Given the description of an element on the screen output the (x, y) to click on. 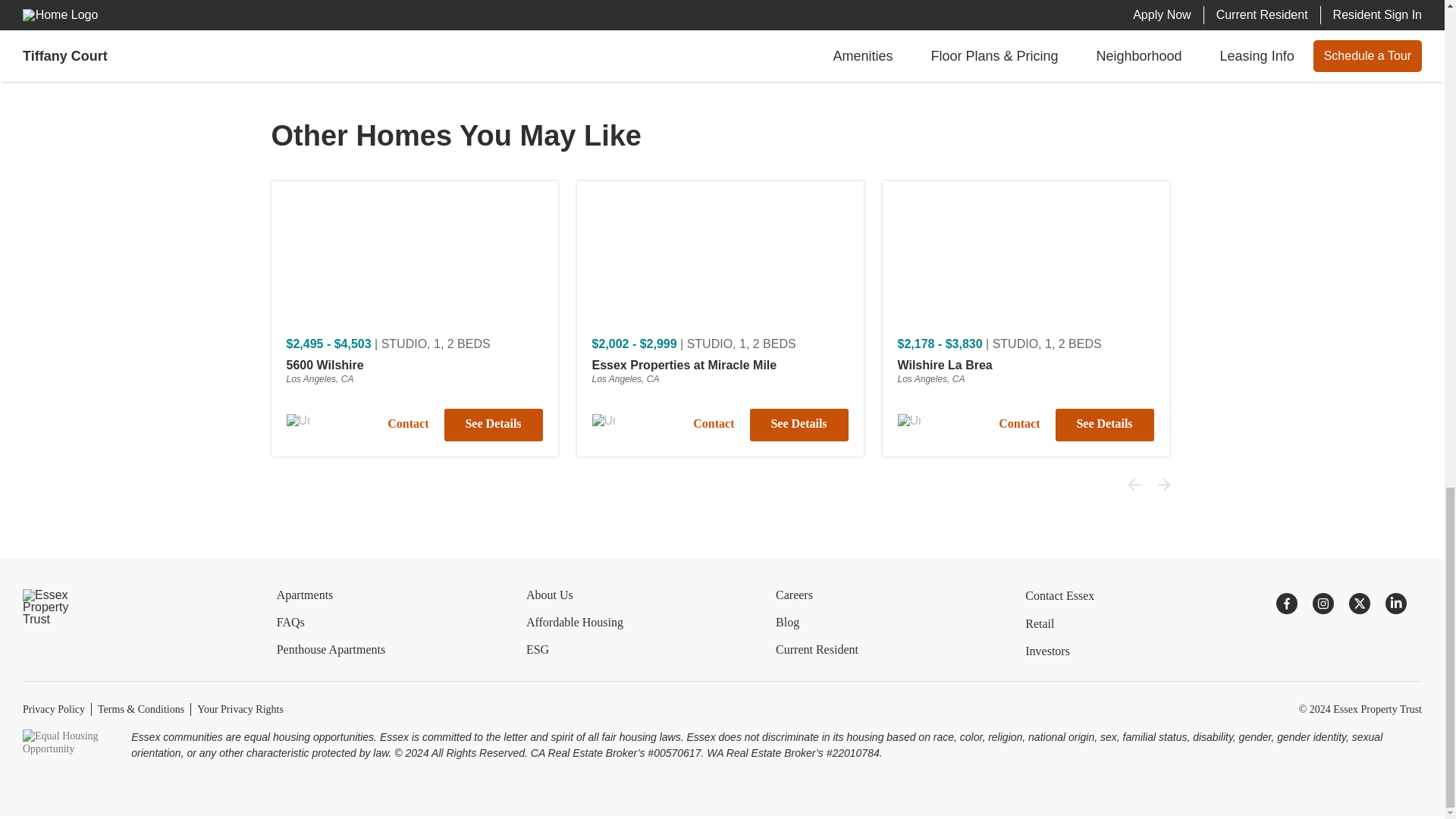
Contact (407, 424)
See Details (493, 424)
